Given the description of an element on the screen output the (x, y) to click on. 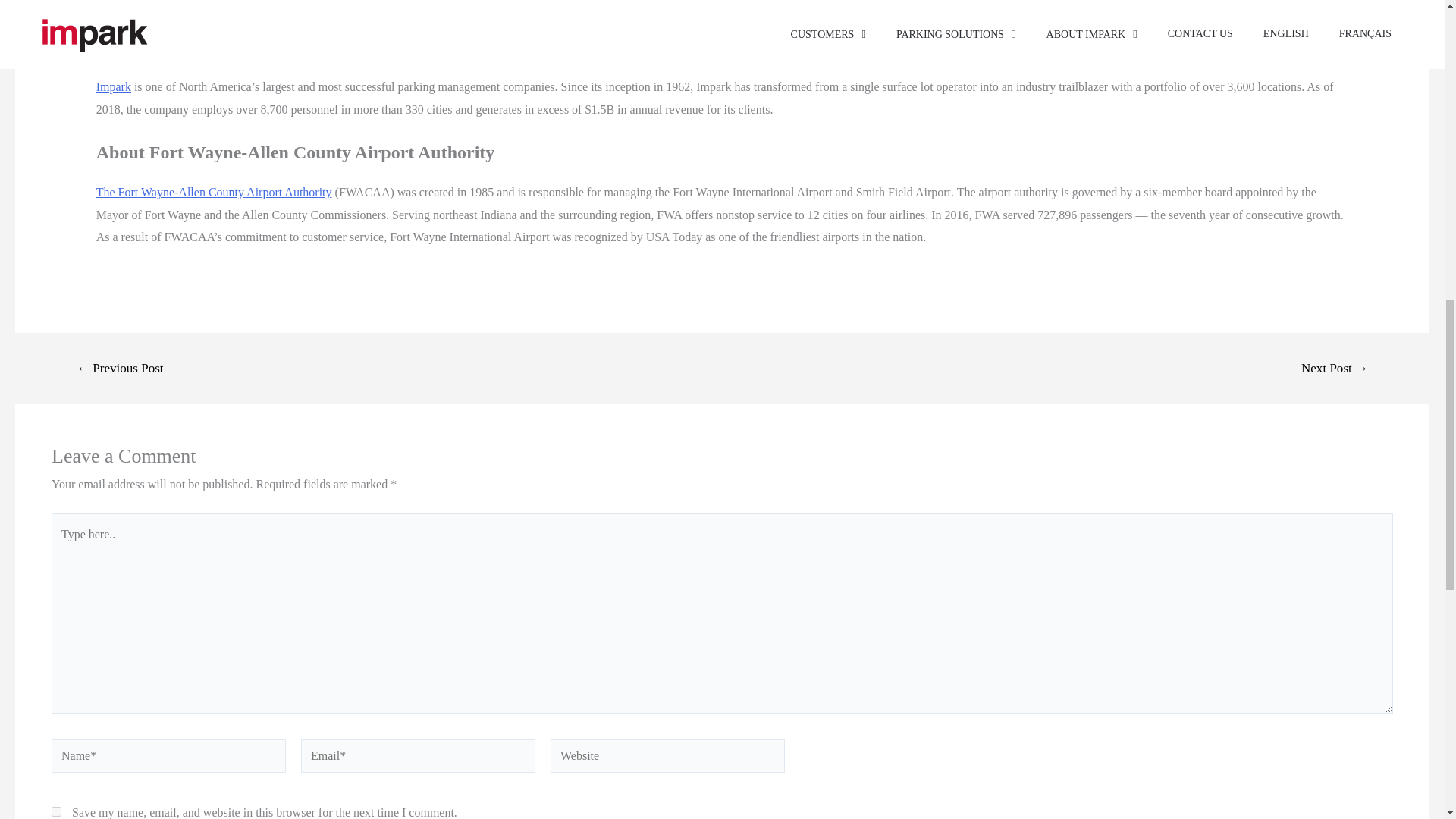
The Fort Wayne-Allen County Airport Authority (213, 192)
Republic Parking (138, 5)
yes (55, 811)
Impark (113, 86)
